Given the description of an element on the screen output the (x, y) to click on. 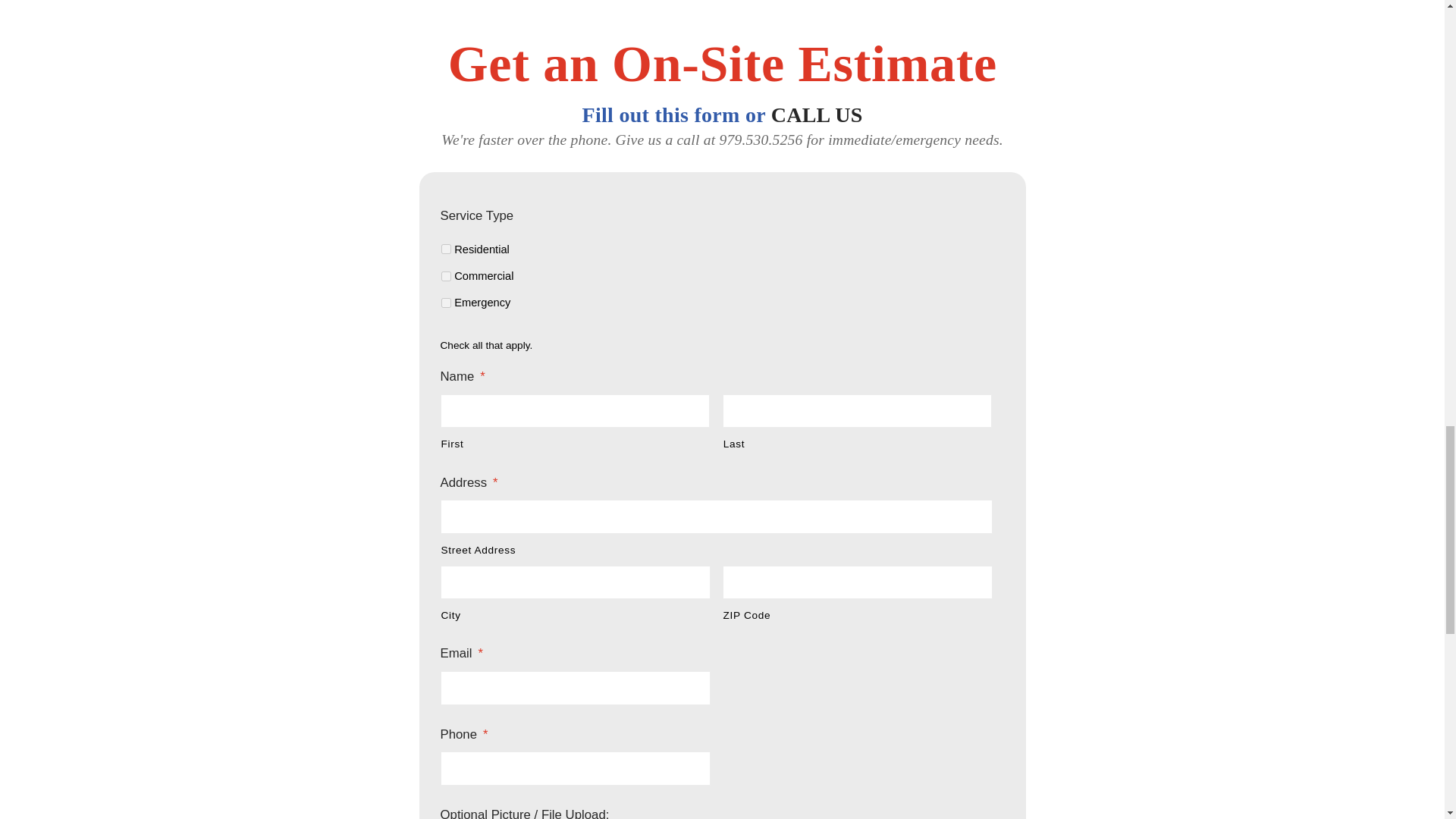
Residential (446, 248)
CALL US (817, 114)
Emergency (446, 302)
Commercial (446, 276)
